Given the description of an element on the screen output the (x, y) to click on. 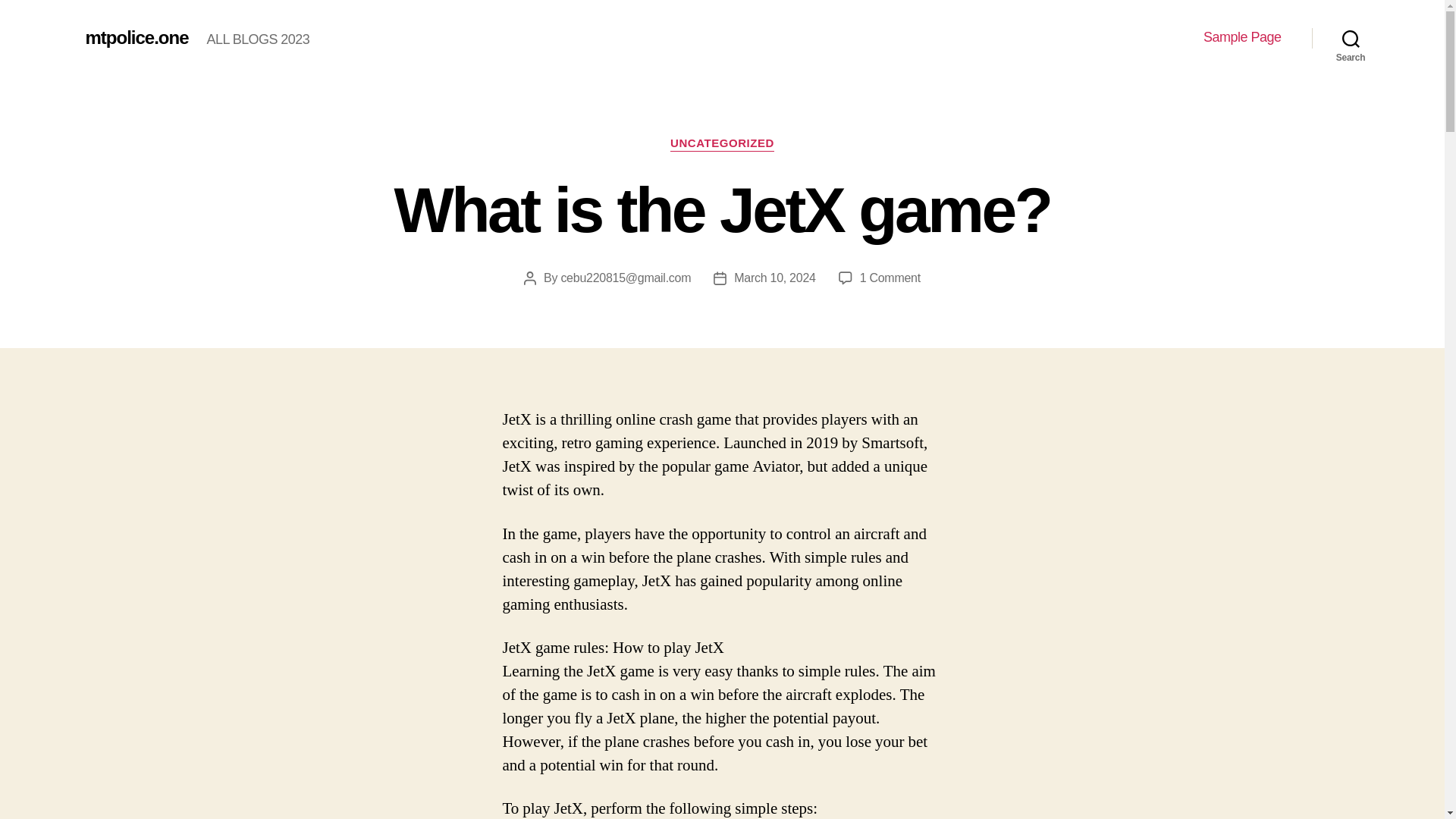
Sample Page (1242, 37)
Search (890, 277)
mtpolice.one (1350, 37)
March 10, 2024 (135, 37)
UNCATEGORIZED (774, 277)
